Given the description of an element on the screen output the (x, y) to click on. 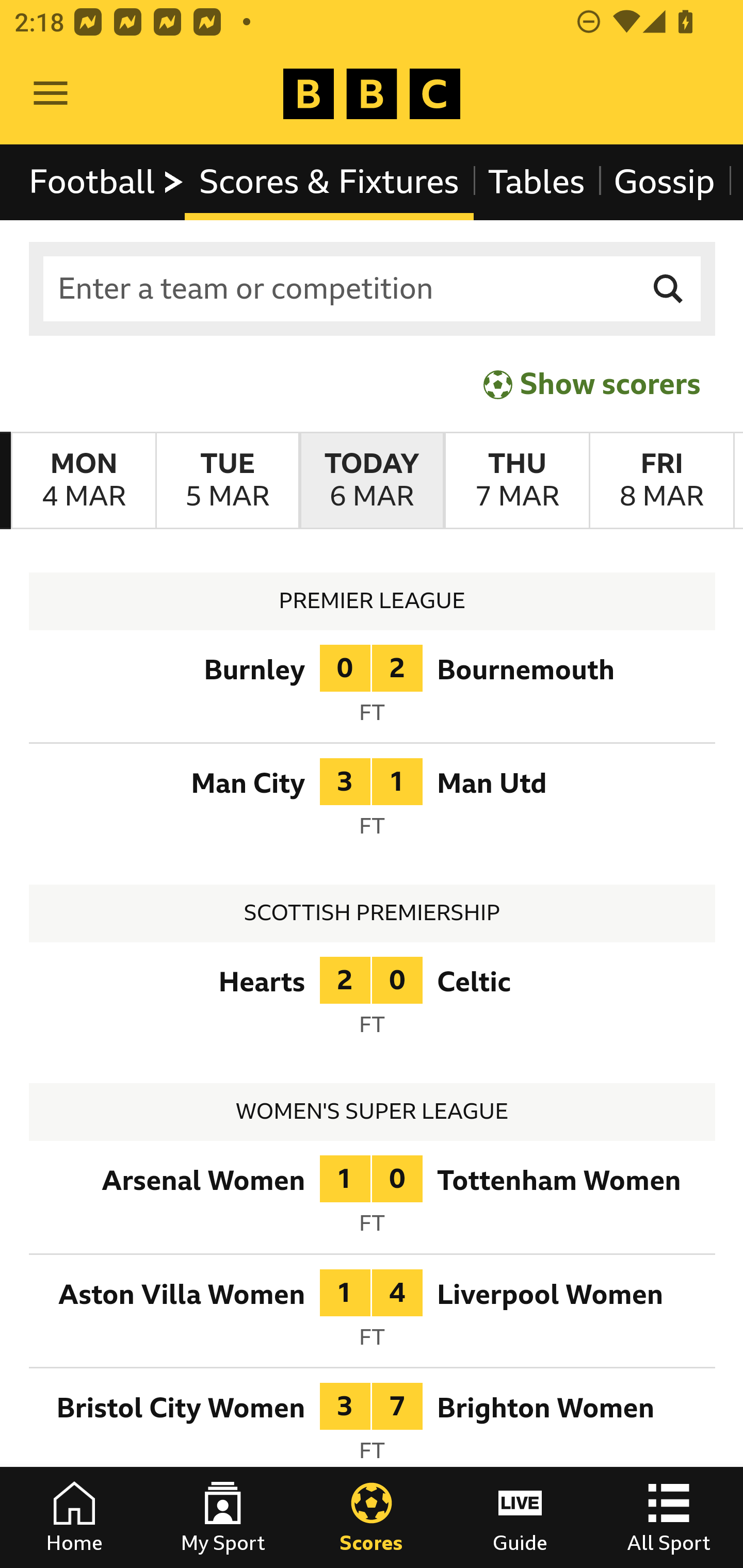
Open Menu (50, 93)
Football  (106, 181)
Scores & Fixtures (329, 181)
Tables (536, 181)
Gossip (664, 181)
Search (669, 289)
Show scorers (591, 383)
MondayMarch 4th Monday March 4th (83, 480)
TuesdayMarch 5th Tuesday March 5th (227, 480)
TodayMarch 6th Today March 6th (371, 480)
ThursdayMarch 7th Thursday March 7th (516, 480)
FridayMarch 8th Friday March 8th (661, 480)
68395538 Burnley 0 AFC Bournemouth 2 Full Time (372, 689)
68395495 Heart of Midlothian 2 Celtic 0 Full Time (372, 1002)
Home (74, 1517)
My Sport (222, 1517)
Guide (519, 1517)
All Sport (668, 1517)
